Given the description of an element on the screen output the (x, y) to click on. 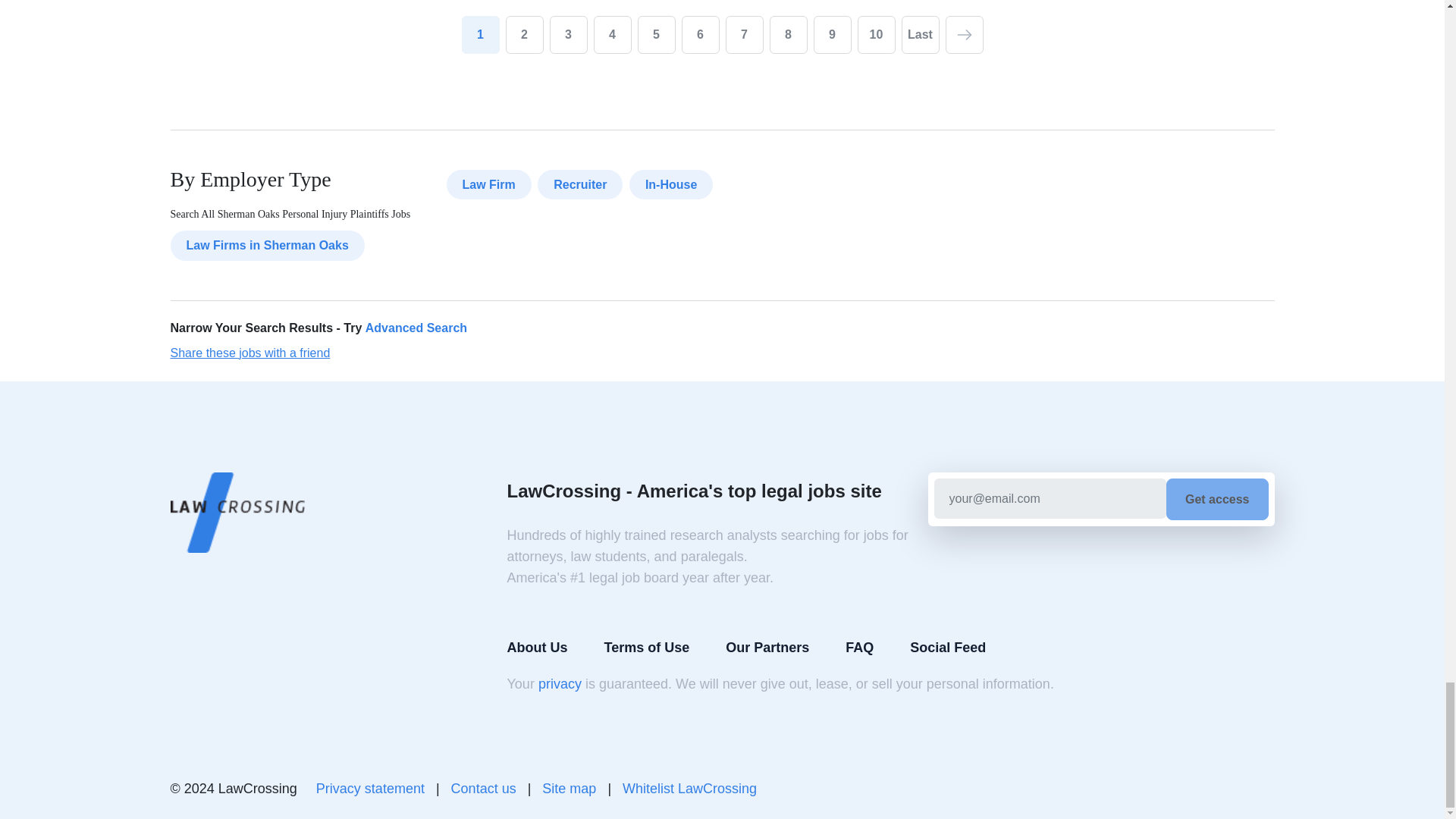
LawCrossing Facebook (1188, 788)
LawCrossing Linkedin (1224, 788)
LawCrossing Twitter (1261, 788)
